Given the description of an element on the screen output the (x, y) to click on. 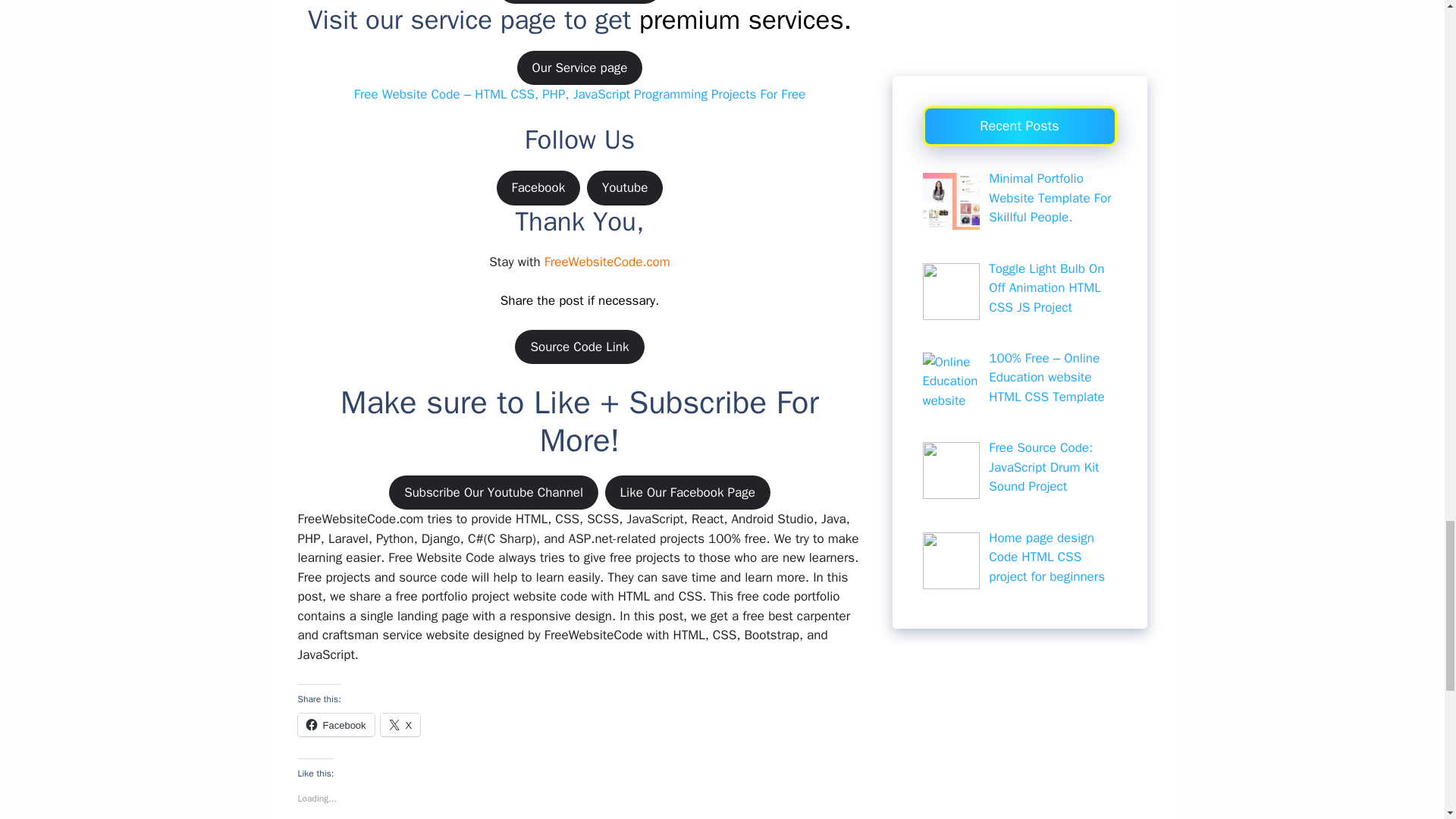
Click to share on X (400, 724)
Click to share on Facebook (335, 724)
